Given the description of an element on the screen output the (x, y) to click on. 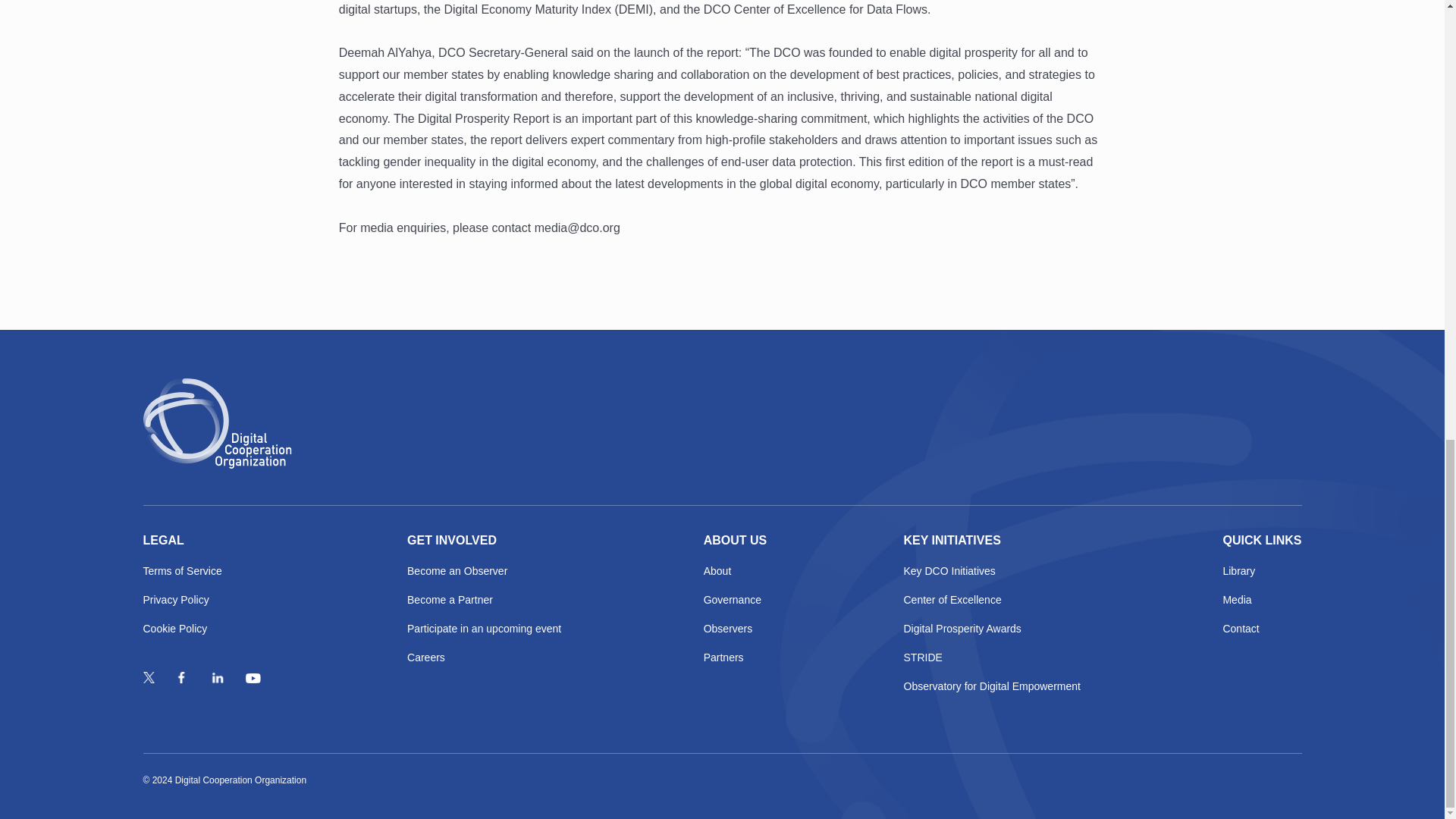
Privacy Policy (203, 600)
Terms of Service (203, 571)
